Given the description of an element on the screen output the (x, y) to click on. 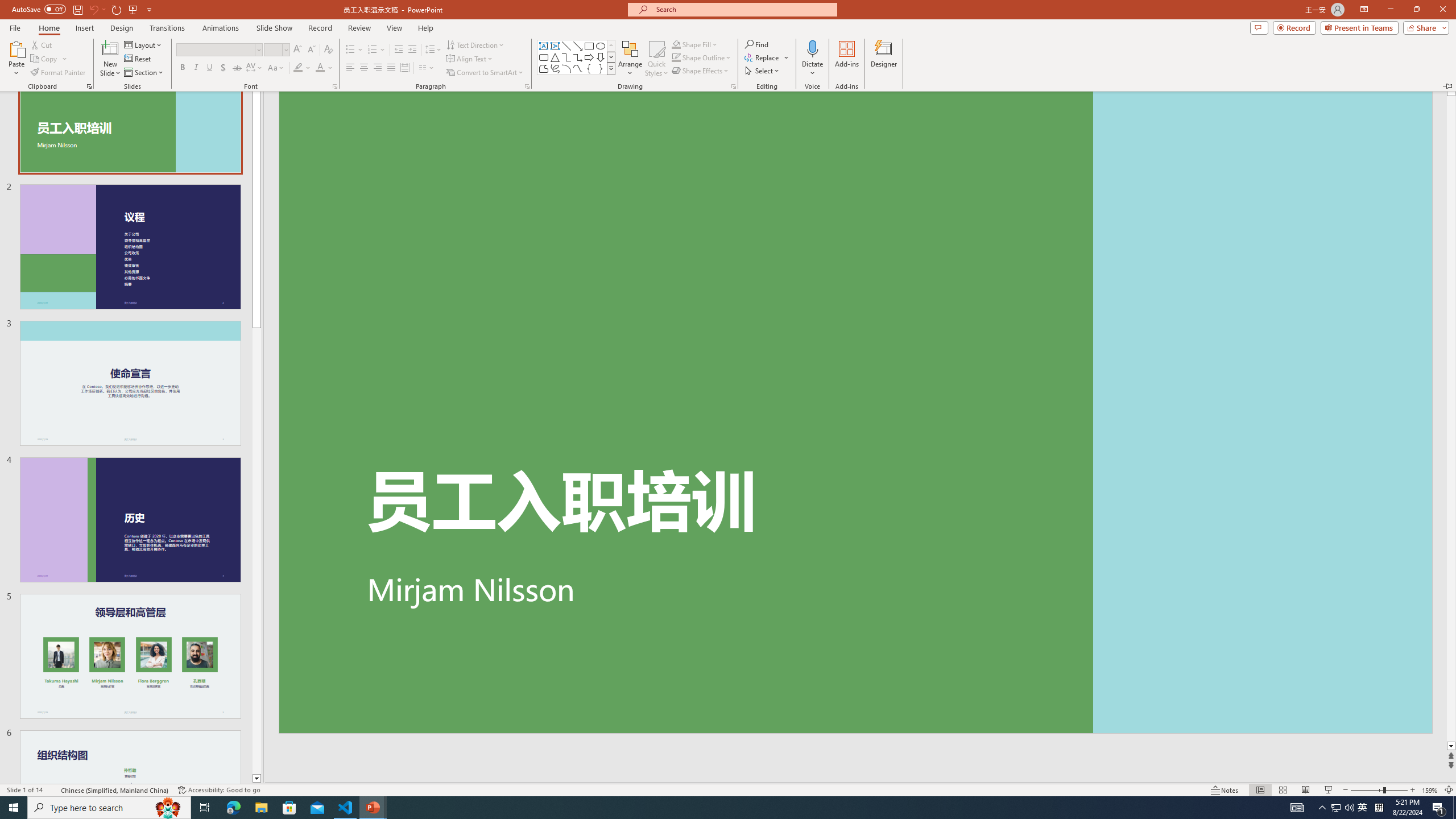
Task View (204, 807)
Microsoft Edge (233, 807)
